Given the description of an element on the screen output the (x, y) to click on. 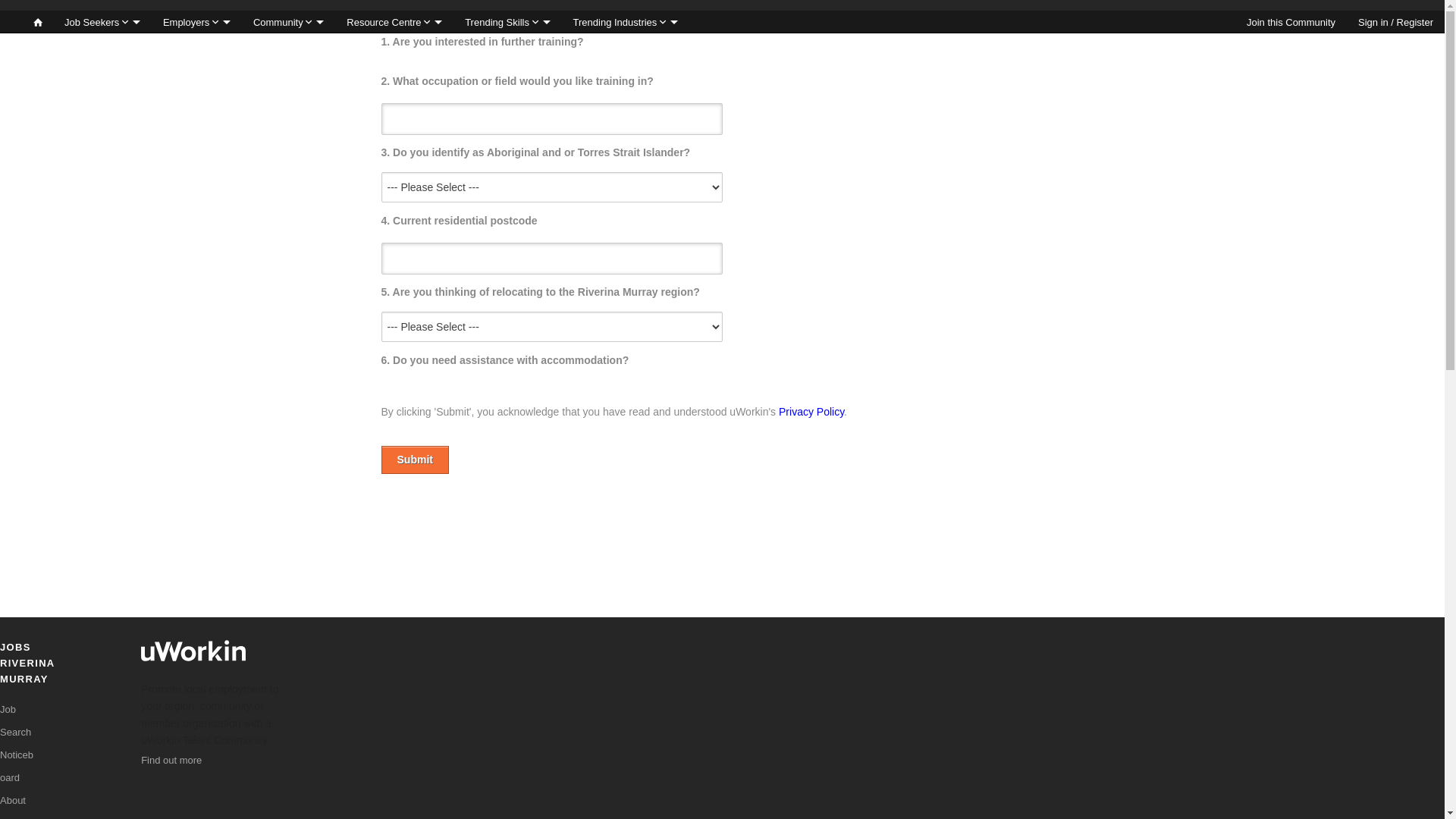
Submit Element type: text (414, 459)
Employers Element type: text (196, 21)
Trending Industries Element type: text (625, 21)
Resource Centre Element type: text (394, 21)
Go to Homepage Element type: hover (37, 21)
Sign in / Register Element type: text (1395, 21)
Job Seekers Element type: text (102, 21)
Trending Skills Element type: text (507, 21)
About Element type: text (12, 800)
Jobs Riverina Murray Element type: hover (11, 21)
Go to uWorkin Element type: hover (193, 654)
Job Search Element type: text (15, 720)
Noticeboard Element type: text (16, 766)
Join this Community Element type: text (1290, 21)
Find out more Element type: text (171, 760)
Community Element type: text (288, 21)
Privacy Policy Element type: text (811, 411)
